Given the description of an element on the screen output the (x, y) to click on. 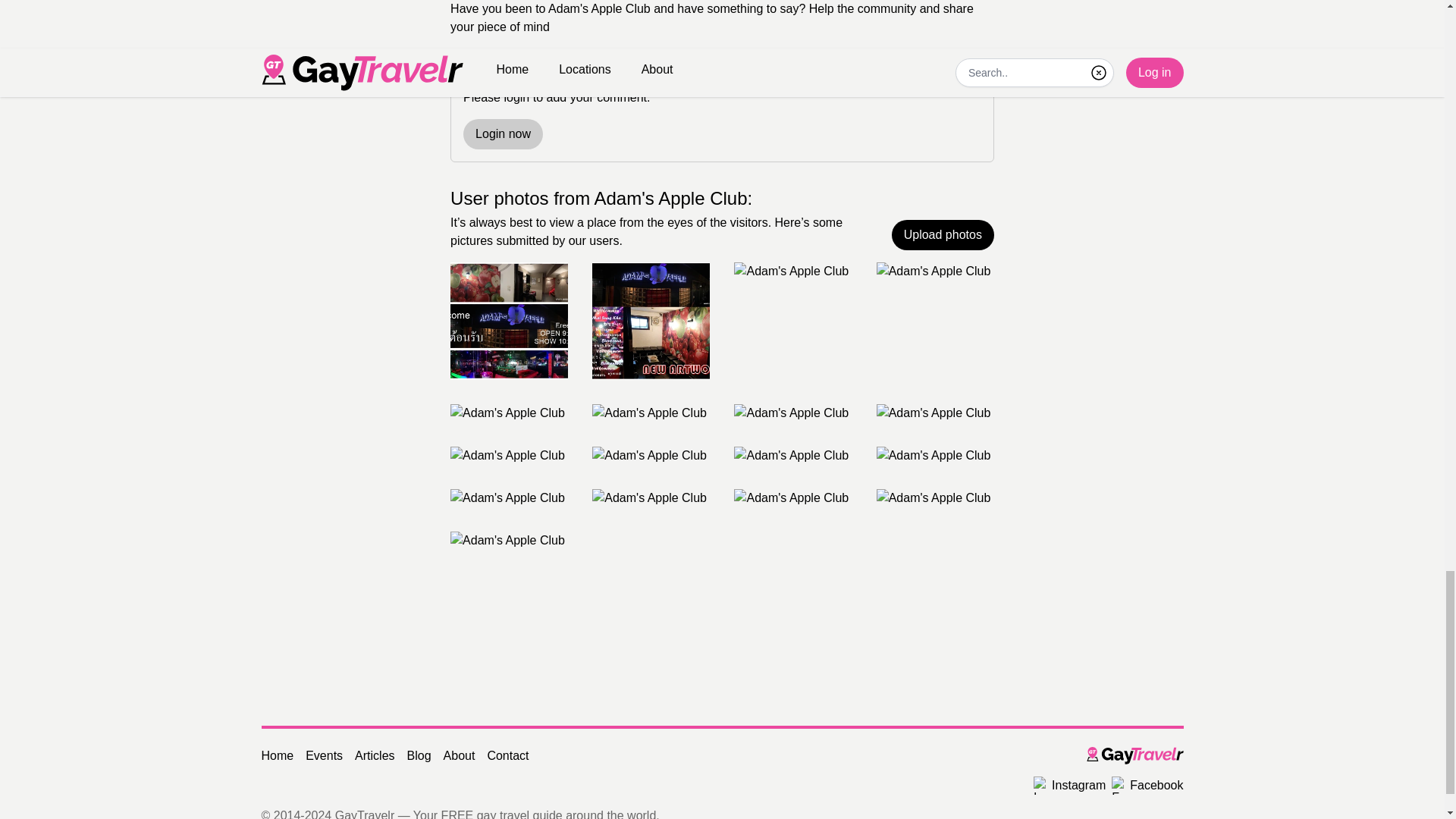
Blog (418, 755)
Events (323, 755)
Login now (503, 133)
Articles (374, 755)
Instagram (1069, 785)
About (460, 755)
Home (277, 755)
Facebook (1147, 785)
Upload photos (942, 235)
Contact (507, 755)
